Given the description of an element on the screen output the (x, y) to click on. 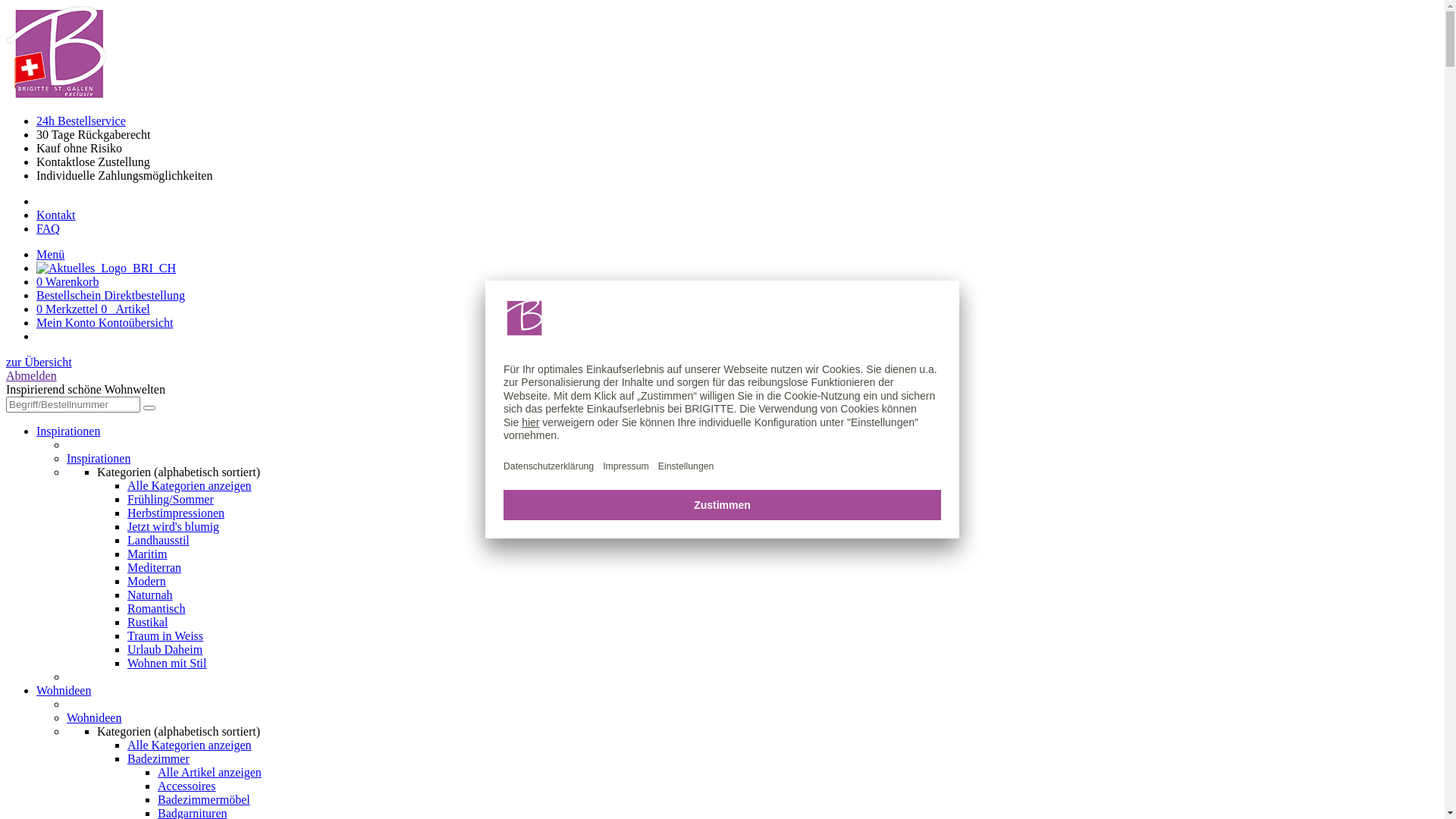
Alle Kategorien anzeigen Element type: text (189, 485)
Inspirationen Element type: text (98, 457)
Bestellschein Direktbestellung Element type: text (110, 294)
Zur Startseite vom BRIGITTE-Online-Shop Element type: hover (56, 52)
Abmelden Element type: text (31, 375)
Kontakt Element type: text (55, 214)
Romantisch Element type: text (156, 608)
Wohnideen Element type: text (63, 690)
Zur Startseite vom BRIGITTE-Online-Shop Element type: hover (105, 268)
Wohnideen Element type: text (93, 717)
Modern Element type: text (146, 580)
Herbstimpressionen Element type: text (175, 512)
24h Bestellservice Element type: text (80, 120)
Inspirationen Element type: text (68, 430)
Rustikal Element type: text (147, 621)
Landhausstil Element type: text (158, 539)
Accessoires Element type: text (186, 785)
Traum in Weiss Element type: text (165, 635)
Alle Artikel anzeigen Element type: text (209, 771)
Urlaub Daheim Element type: text (164, 649)
Naturnah Element type: text (149, 594)
0 Warenkorb Element type: text (67, 281)
Wohnen mit Stil Element type: text (167, 662)
0 Merkzettel 0   Artikel Element type: text (93, 308)
Alle Kategorien anzeigen Element type: text (189, 744)
Badezimmer Element type: text (158, 758)
Mediterran Element type: text (154, 567)
Jetzt wird's blumig Element type: text (173, 526)
FAQ Element type: text (47, 228)
Maritim Element type: text (146, 553)
